Given the description of an element on the screen output the (x, y) to click on. 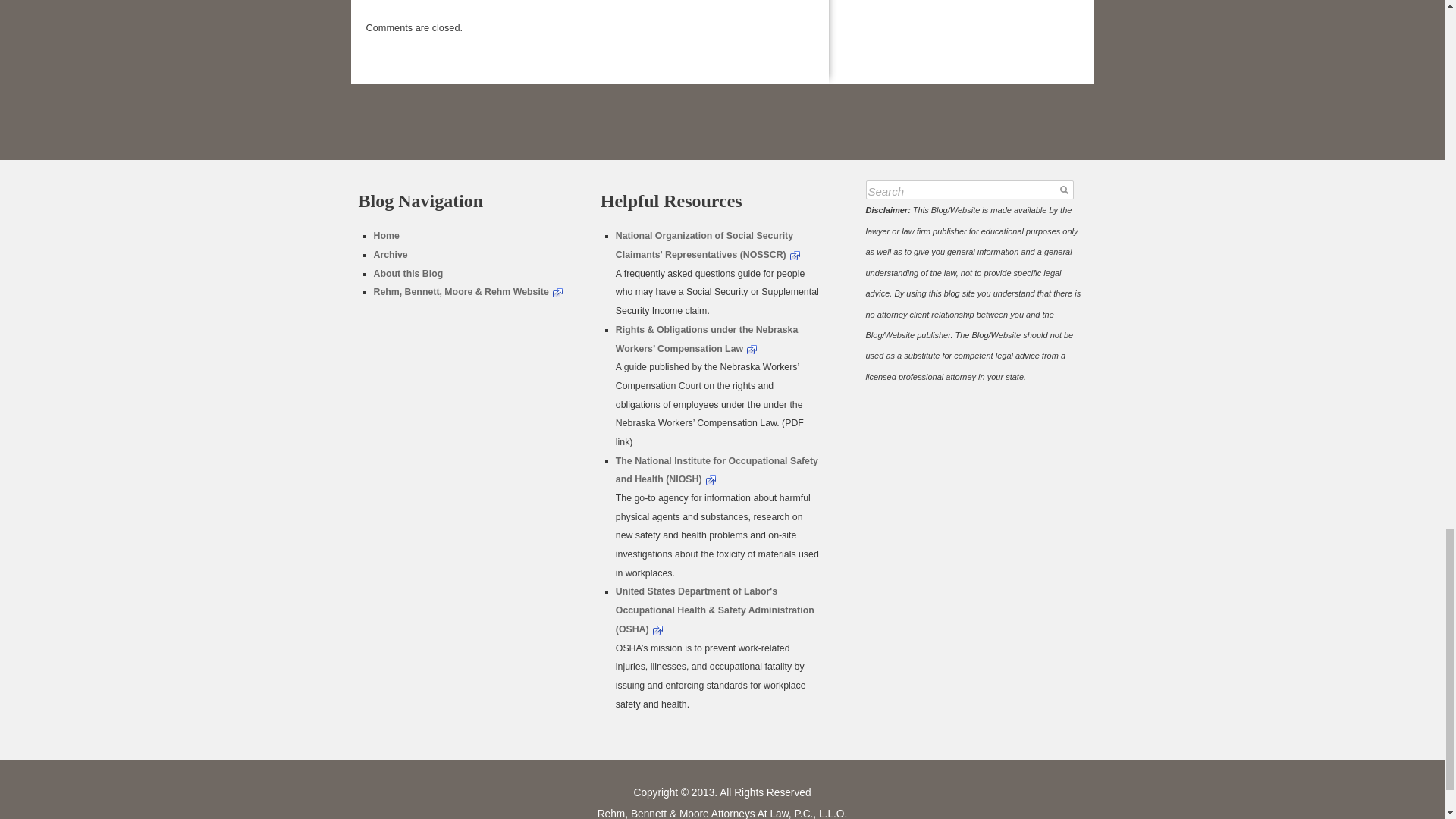
Search (969, 192)
